Given the description of an element on the screen output the (x, y) to click on. 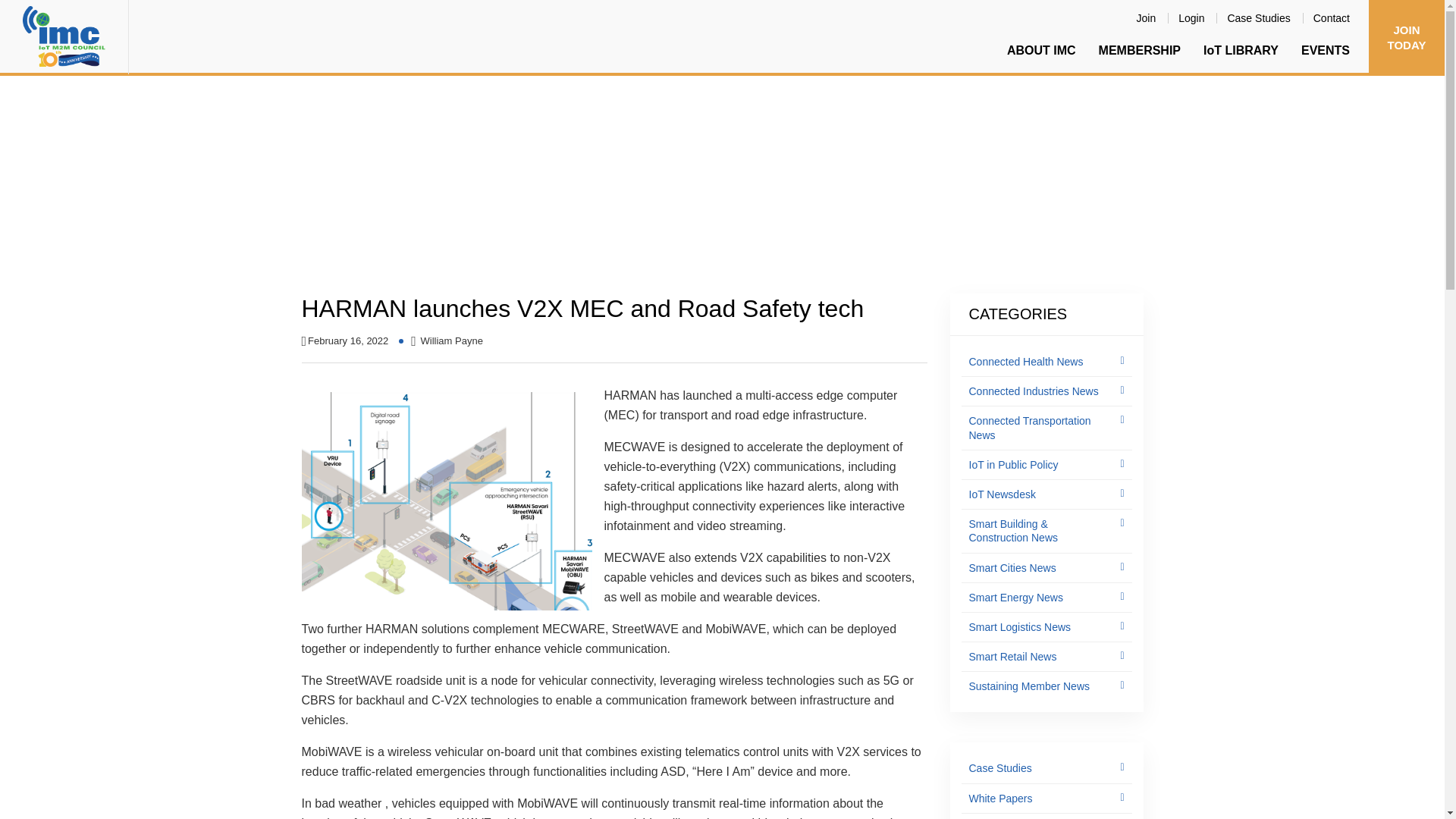
Case Studies (1258, 17)
IoT LIBRARY (1241, 50)
ABOUT IMC (1041, 50)
Join (1146, 17)
EVENTS (1325, 50)
Home (317, 202)
News (427, 202)
Contact (1331, 17)
Connected Transportation News (538, 202)
Login (1191, 17)
MEMBERSHIP (1139, 50)
IoT Library (372, 202)
HARMAN launches V2X MEC and Road Safety tech (775, 202)
